Given the description of an element on the screen output the (x, y) to click on. 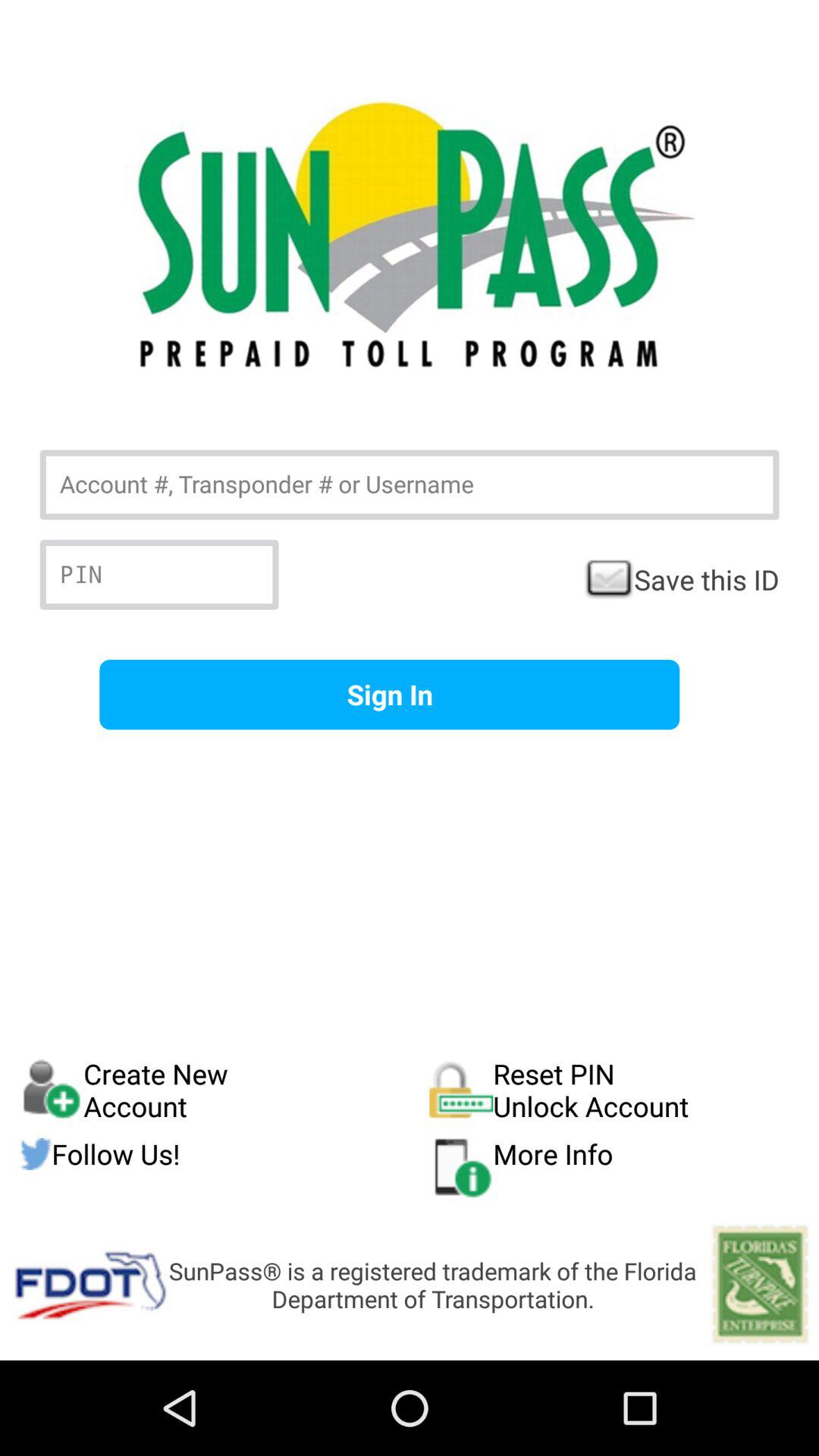
choose icon to the left of reset pin unlock (224, 1089)
